Given the description of an element on the screen output the (x, y) to click on. 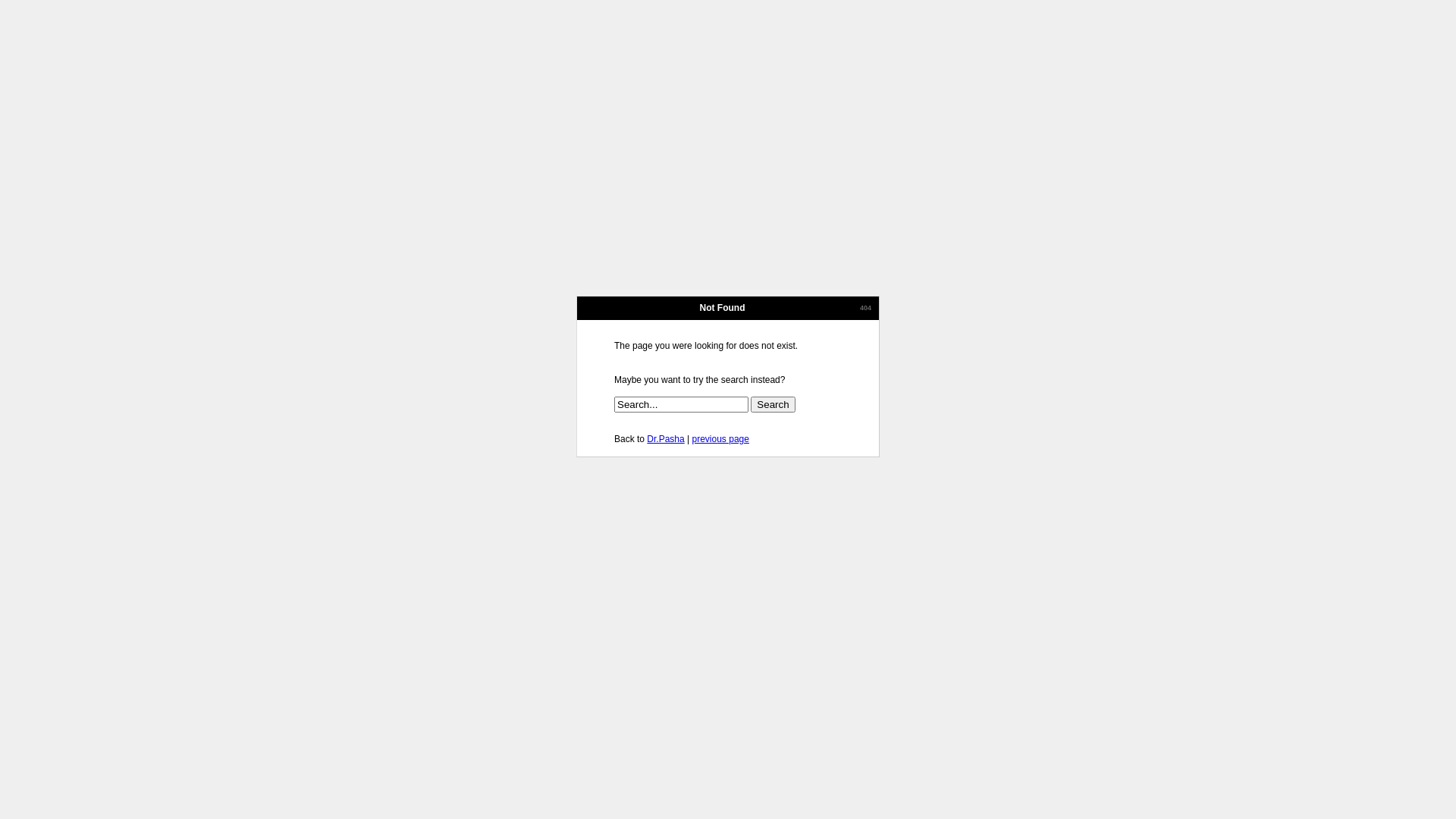
previous page Element type: text (720, 438)
Dr.Pasha Element type: text (665, 438)
Search Element type: text (772, 404)
